Given the description of an element on the screen output the (x, y) to click on. 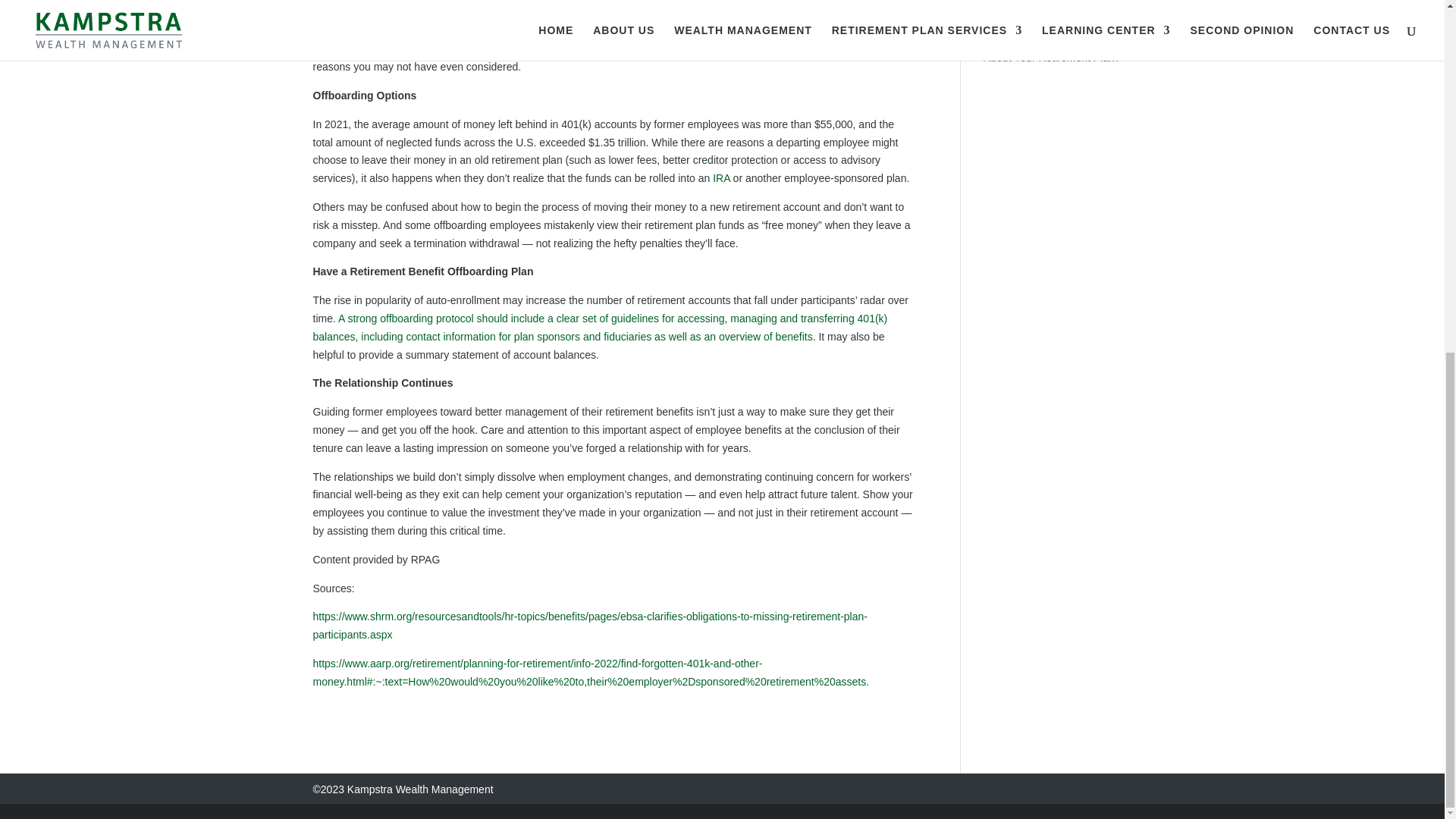
IRA (721, 177)
Quiz: How Much Do You Know About Your Retirement Plan? (1056, 49)
